Given the description of an element on the screen output the (x, y) to click on. 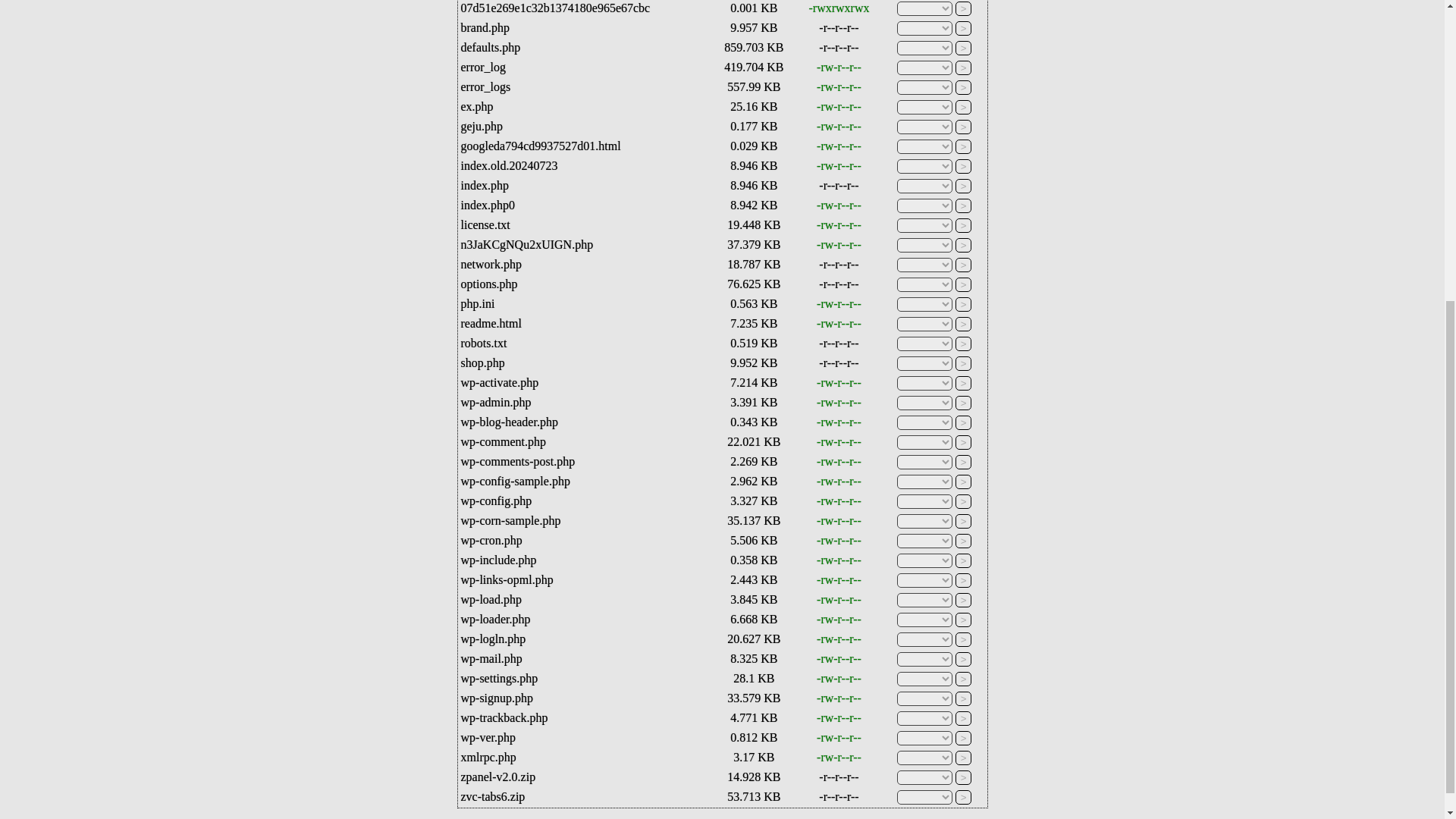
07d51e269e1c32b1374180e965e67cbc (555, 7)
